Given the description of an element on the screen output the (x, y) to click on. 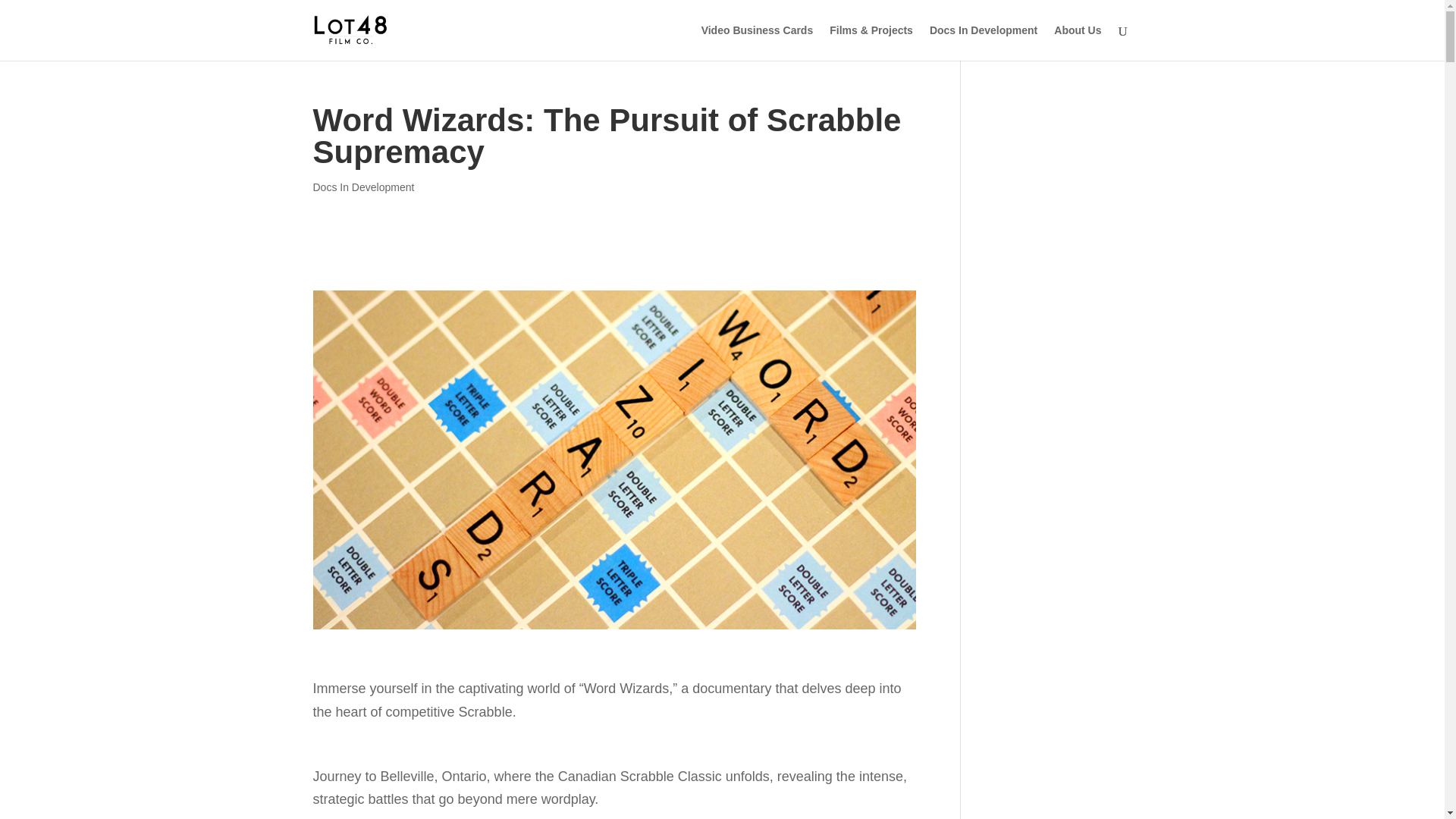
About Us (1077, 42)
Docs In Development (983, 42)
Docs In Development (363, 186)
Video Business Cards (757, 42)
